Given the description of an element on the screen output the (x, y) to click on. 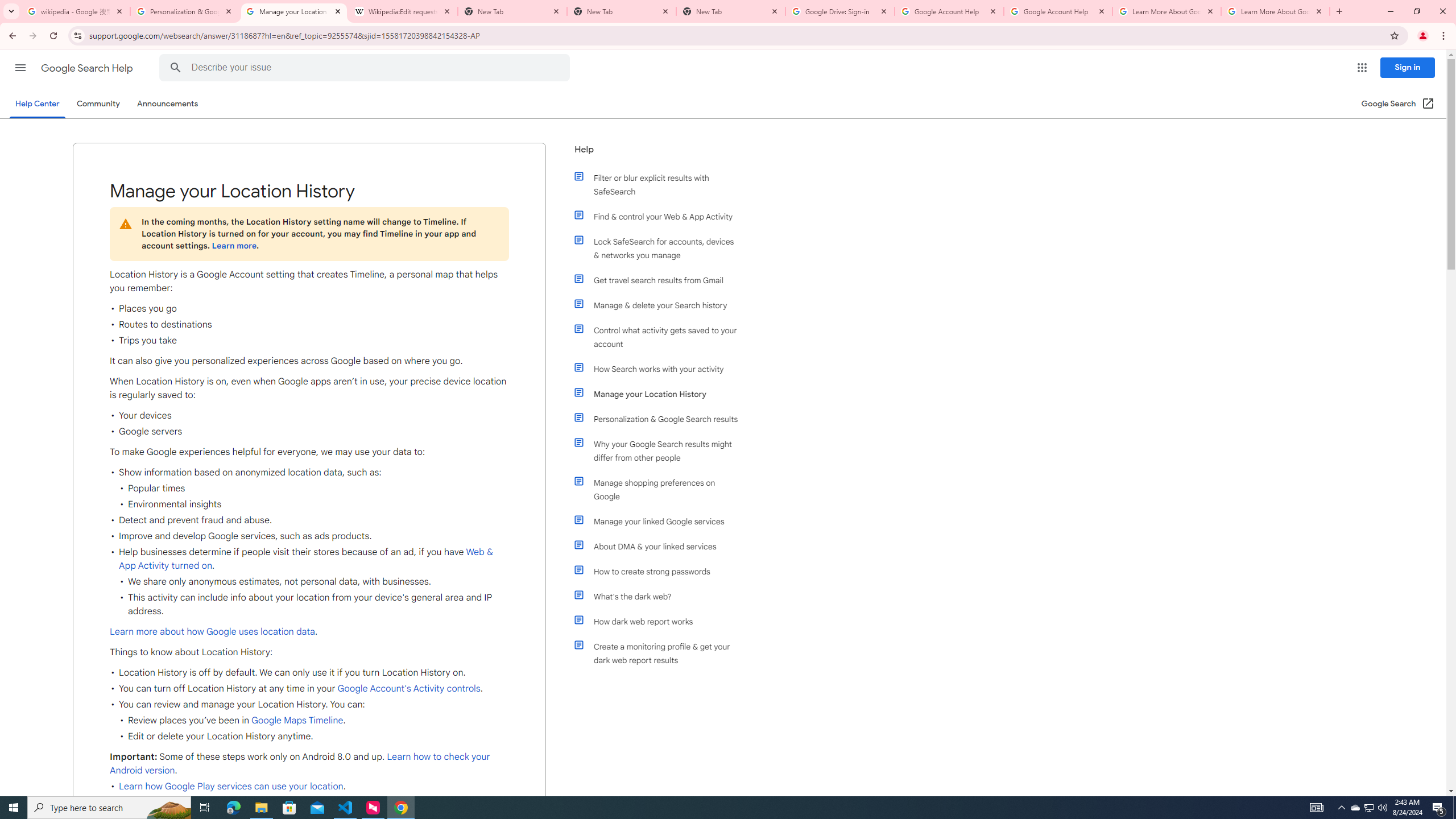
Describe your issue (365, 67)
Wikipedia:Edit requests - Wikipedia (403, 11)
Manage your Location History - Google Search Help (293, 11)
New Tab (730, 11)
Control what activity gets saved to your account (661, 336)
Announcements (168, 103)
Google Search Help (87, 68)
